Given the description of an element on the screen output the (x, y) to click on. 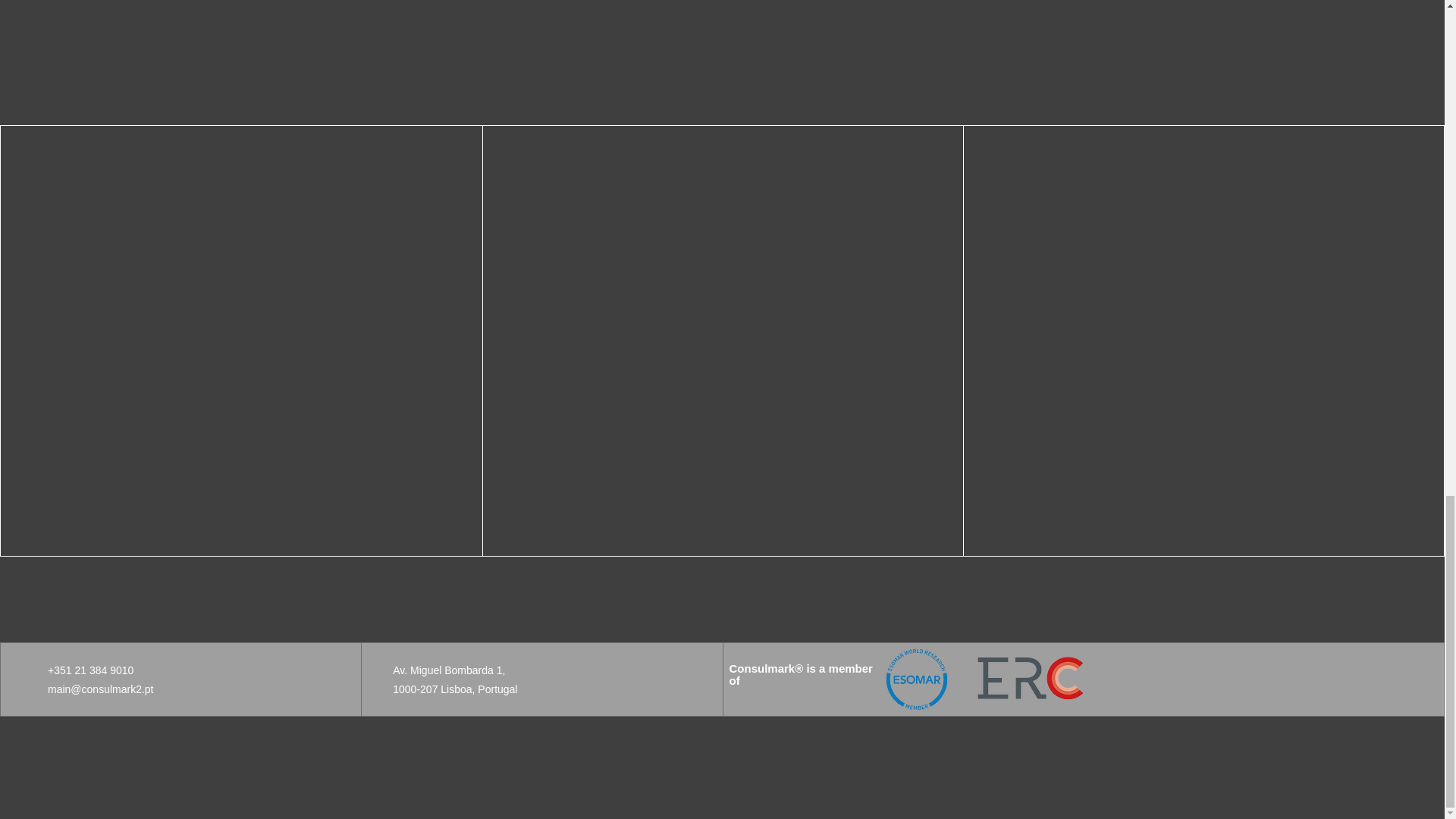
ESOMAR-removebg-preview.png (916, 679)
ERC-removebg-preview.png (1029, 679)
